Given the description of an element on the screen output the (x, y) to click on. 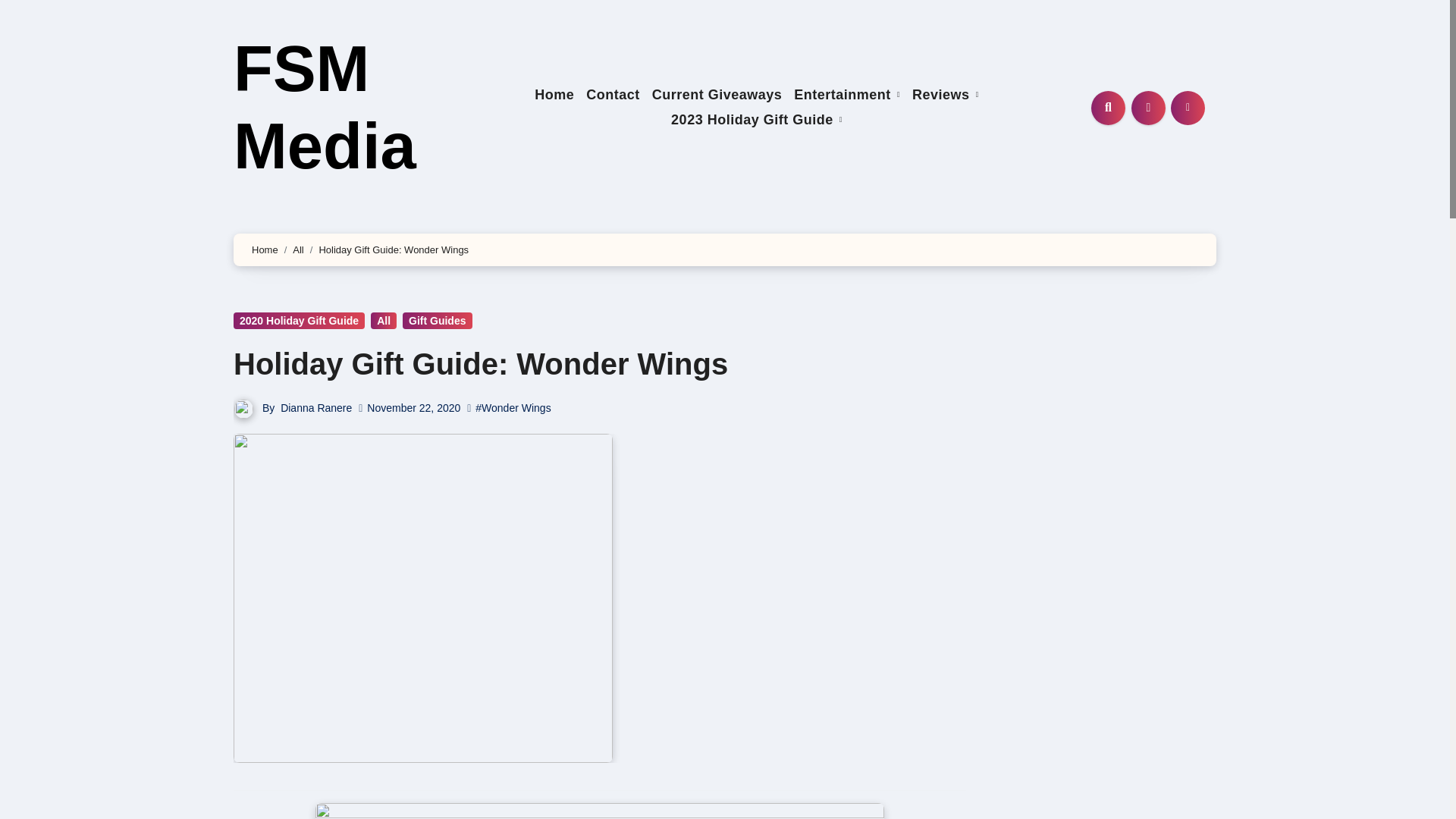
All (297, 249)
FSM Media (324, 106)
Home (553, 95)
Home (264, 249)
November 22, 2020 (413, 408)
Gift Guides (437, 320)
Home (553, 95)
Reviews (945, 95)
2020 Holiday Gift Guide (298, 320)
Dianna Ranere (316, 408)
